Given the description of an element on the screen output the (x, y) to click on. 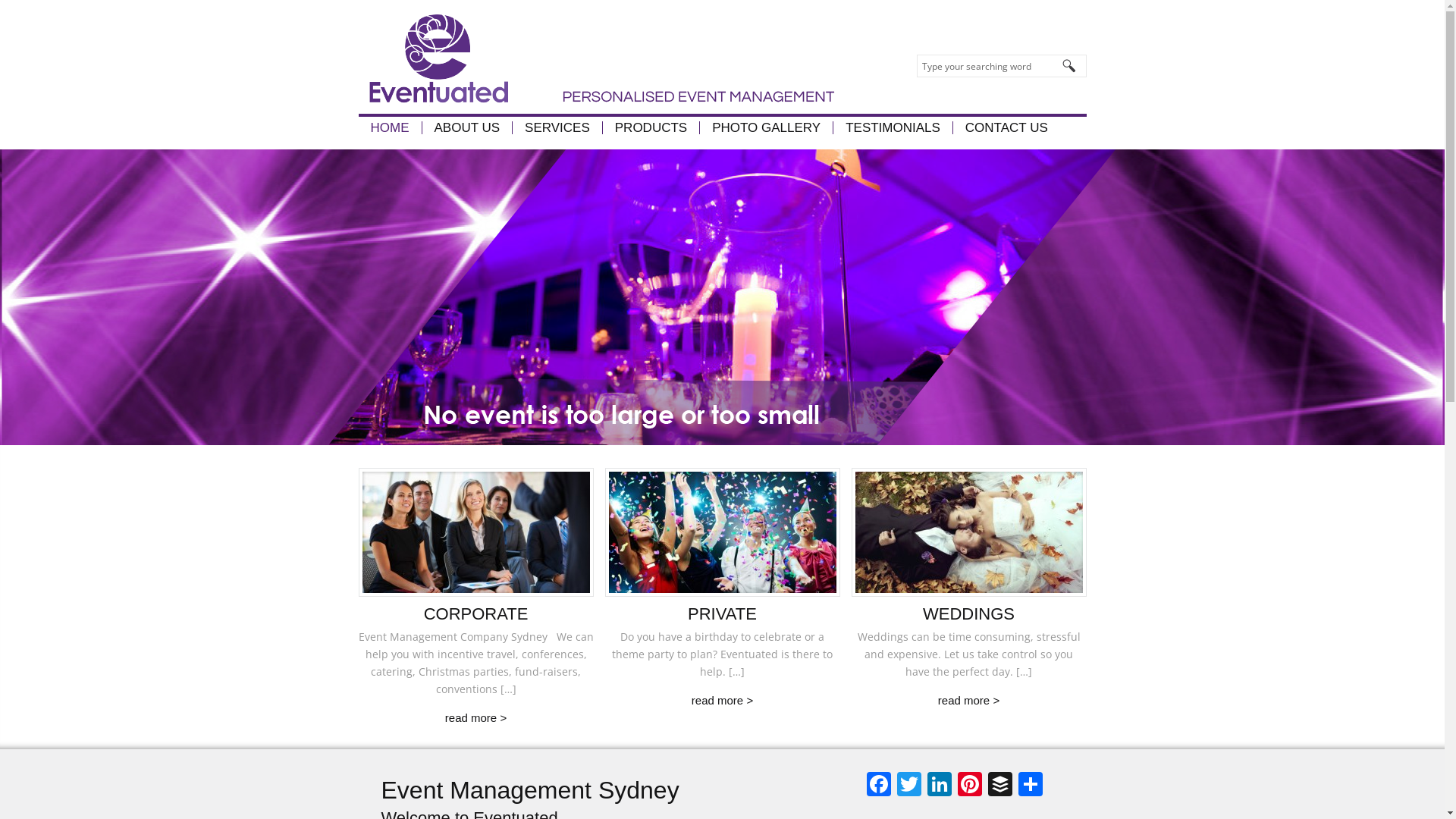
PRIVATE Element type: text (721, 613)
PRODUCTS Element type: text (650, 127)
HOME Element type: text (388, 127)
ABOUT US Element type: text (466, 127)
CORPORATE Element type: text (475, 613)
Private Element type: hover (722, 531)
read more > Element type: text (475, 717)
SERVICES Element type: text (556, 127)
Share Element type: text (1029, 785)
read more > Element type: text (722, 699)
Weddings Element type: hover (967, 531)
Twitter Element type: text (908, 785)
Buffer Element type: text (999, 785)
read more > Element type: text (968, 699)
Eventuated Element type: text (595, 56)
TESTIMONIALS Element type: text (892, 127)
Corporate Element type: hover (475, 531)
PHOTO GALLERY Element type: text (765, 127)
Facebook Element type: text (877, 785)
CONTACT US Element type: text (1006, 127)
WEDDINGS Element type: text (968, 613)
Pinterest Element type: text (968, 785)
LinkedIn Element type: text (938, 785)
